Given the description of an element on the screen output the (x, y) to click on. 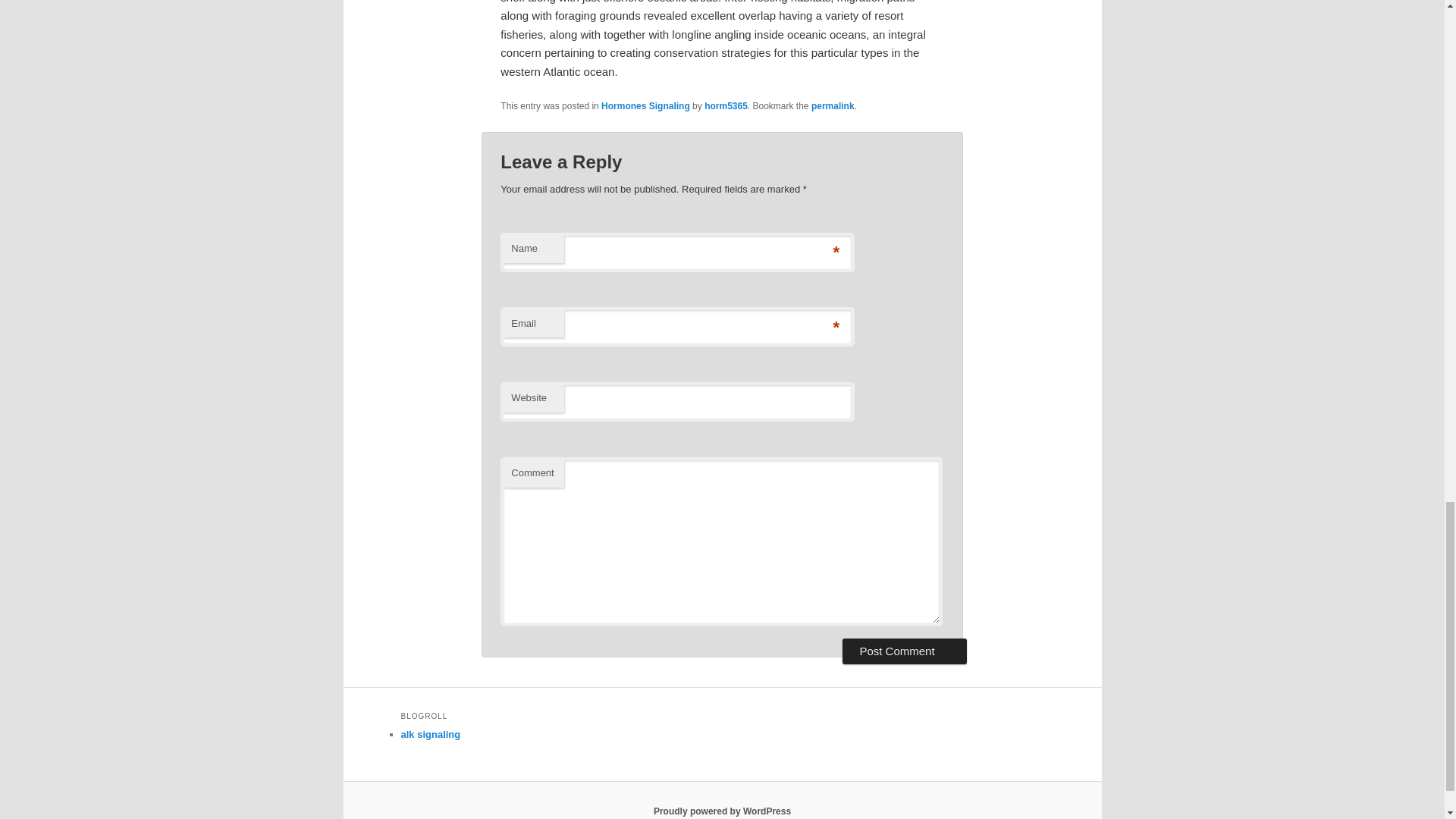
Proudly powered by WordPress (721, 810)
Semantic Personal Publishing Platform (721, 810)
permalink (832, 105)
Post Comment (904, 651)
alk signaling (430, 734)
Hormones Signaling (645, 105)
Post Comment (904, 651)
View all posts in Hormones Signaling (645, 105)
horm5365 (726, 105)
